Given the description of an element on the screen output the (x, y) to click on. 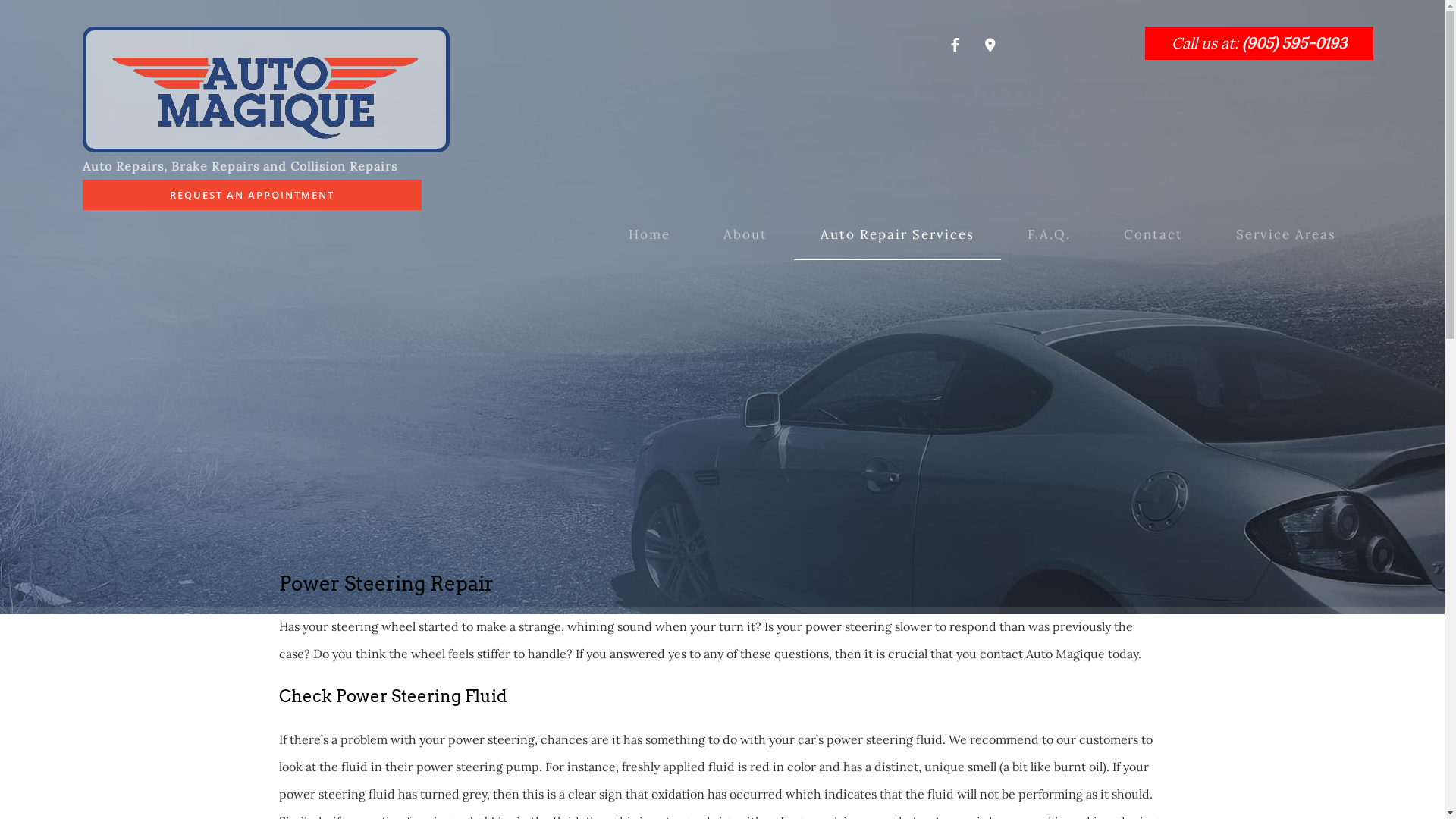
Oil Change Element type: text (897, 492)
F.A.Q. Element type: text (1049, 235)
Tire Services Element type: text (897, 523)
REQUEST AN APPOINTMENT Element type: text (251, 194)
Steering & Suspension Element type: text (897, 306)
Collision Repair Element type: text (897, 399)
Google Maps Element type: hover (990, 45)
Auto Repair Services Element type: text (897, 235)
Blog Element type: text (744, 275)
Engine Repair Element type: text (897, 430)
Exhaust Repair Element type: text (897, 461)
Contact Element type: text (1153, 235)
Auto Maintenance and Inspection Element type: text (897, 337)
About Element type: text (744, 235)
Service Areas Element type: text (1285, 235)
Connect to Facebook Element type: hover (954, 45)
Brake Services Element type: text (897, 368)
Reviews Element type: text (744, 306)
Painting & Touch-ups Element type: text (897, 275)
Home Element type: text (649, 235)
Call us at: (905) 595-0193 Element type: text (1259, 42)
